Given the description of an element on the screen output the (x, y) to click on. 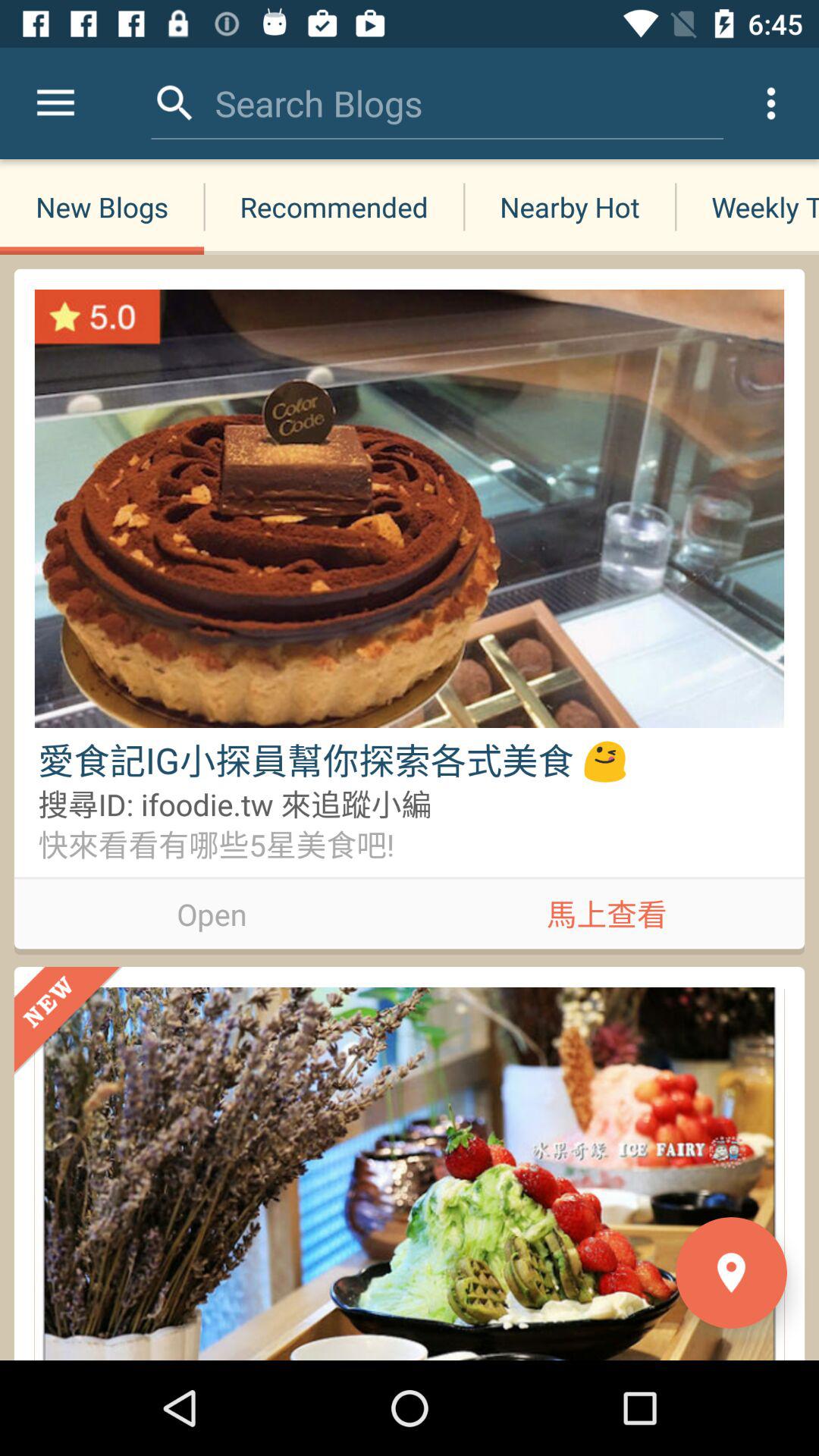
open item to the right of the recommended item (569, 206)
